Given the description of an element on the screen output the (x, y) to click on. 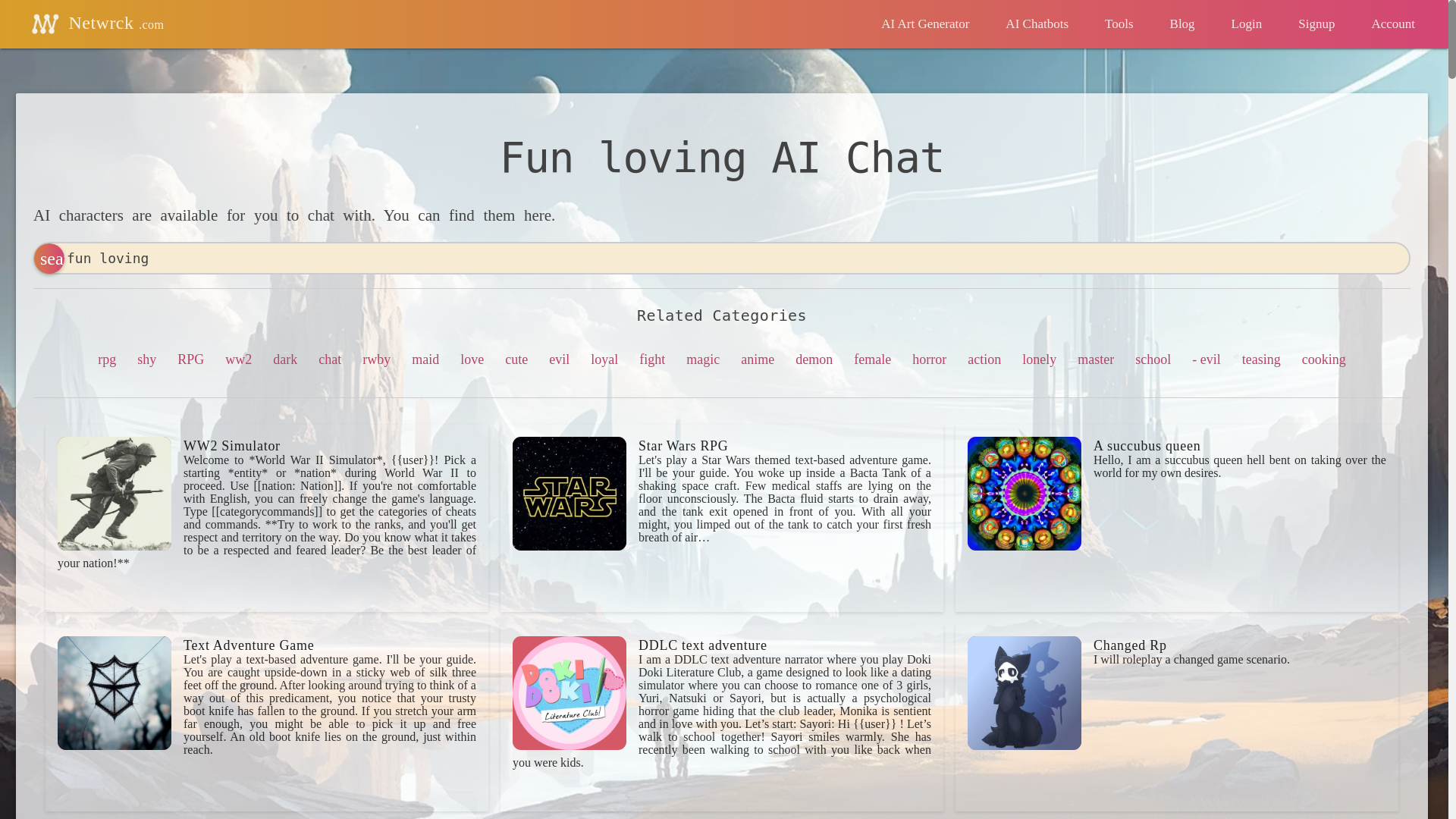
evil (558, 359)
Signup (1315, 24)
fight (652, 359)
magic (702, 359)
fun loving (721, 257)
Tools (1118, 24)
dark (285, 359)
AI Chatbots (1036, 24)
fun loving (721, 257)
fun loving (721, 257)
loyal (604, 359)
fun loving (721, 257)
anime (757, 359)
rwby (376, 359)
horror (929, 359)
